Given the description of an element on the screen output the (x, y) to click on. 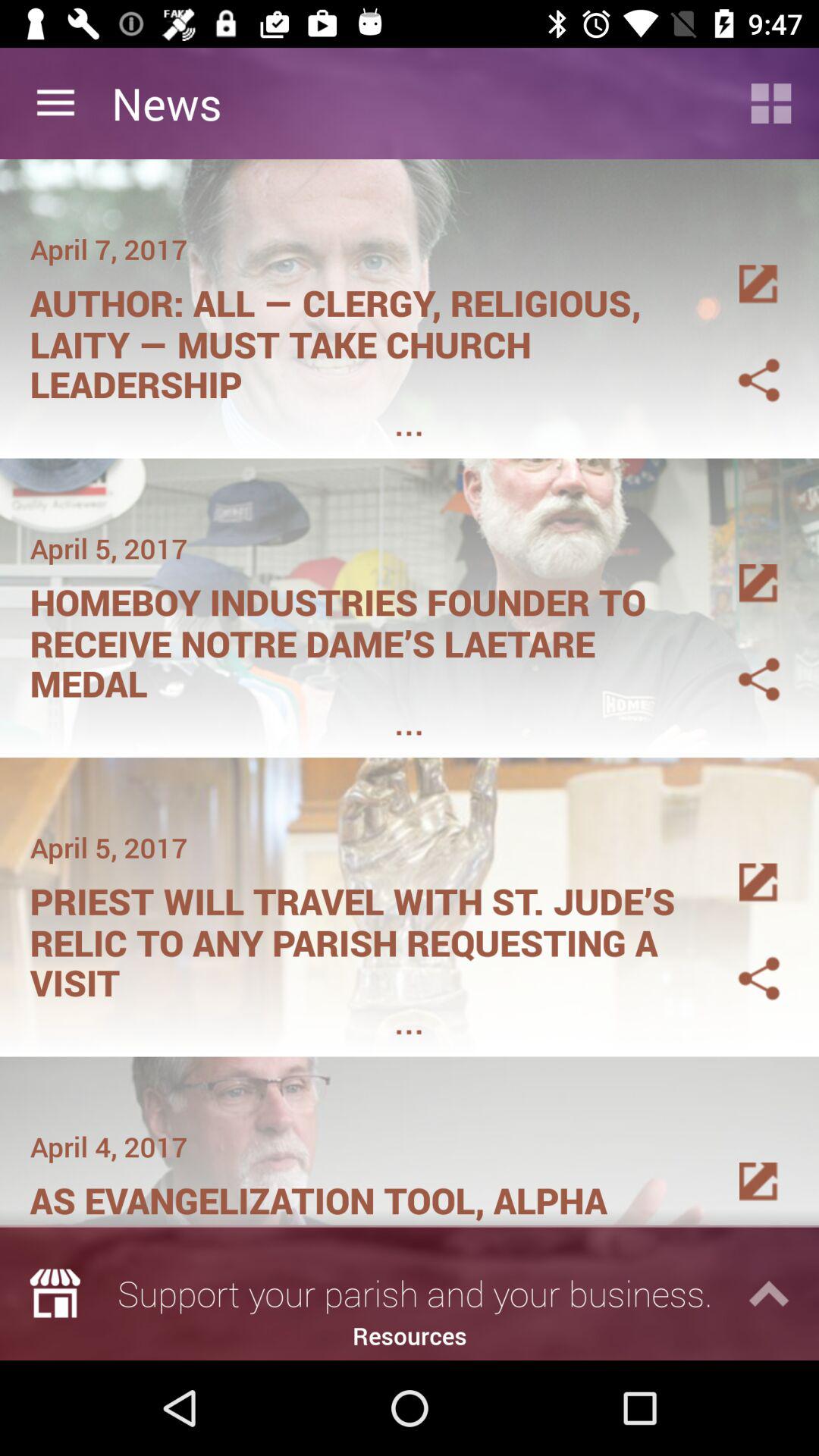
turn on icon next to the news item (771, 103)
